Given the description of an element on the screen output the (x, y) to click on. 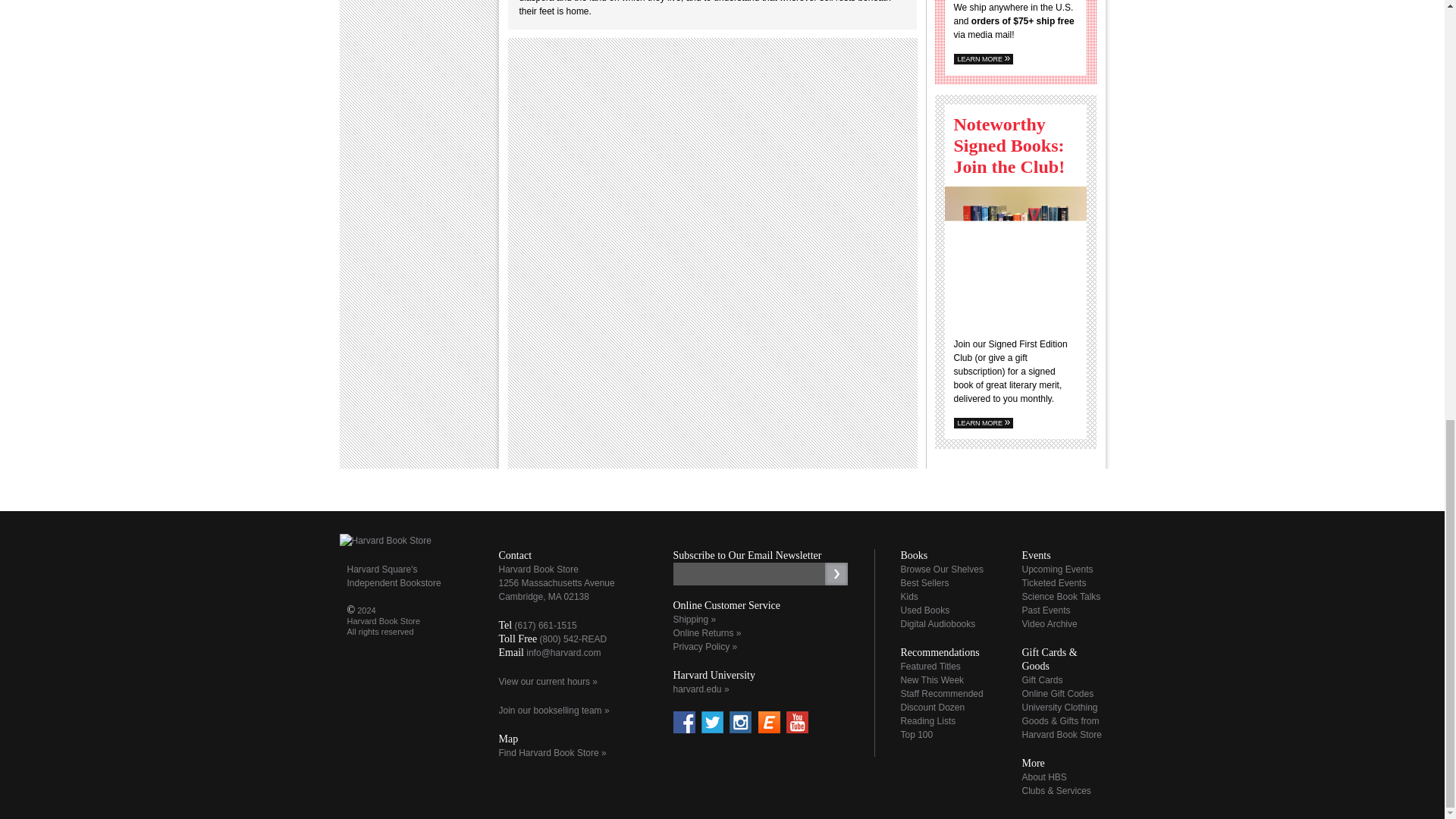
Harvard Book Store (384, 540)
Facebook (683, 722)
YouTube (797, 722)
Twitter (712, 722)
Eventbrite (769, 722)
